Given the description of an element on the screen output the (x, y) to click on. 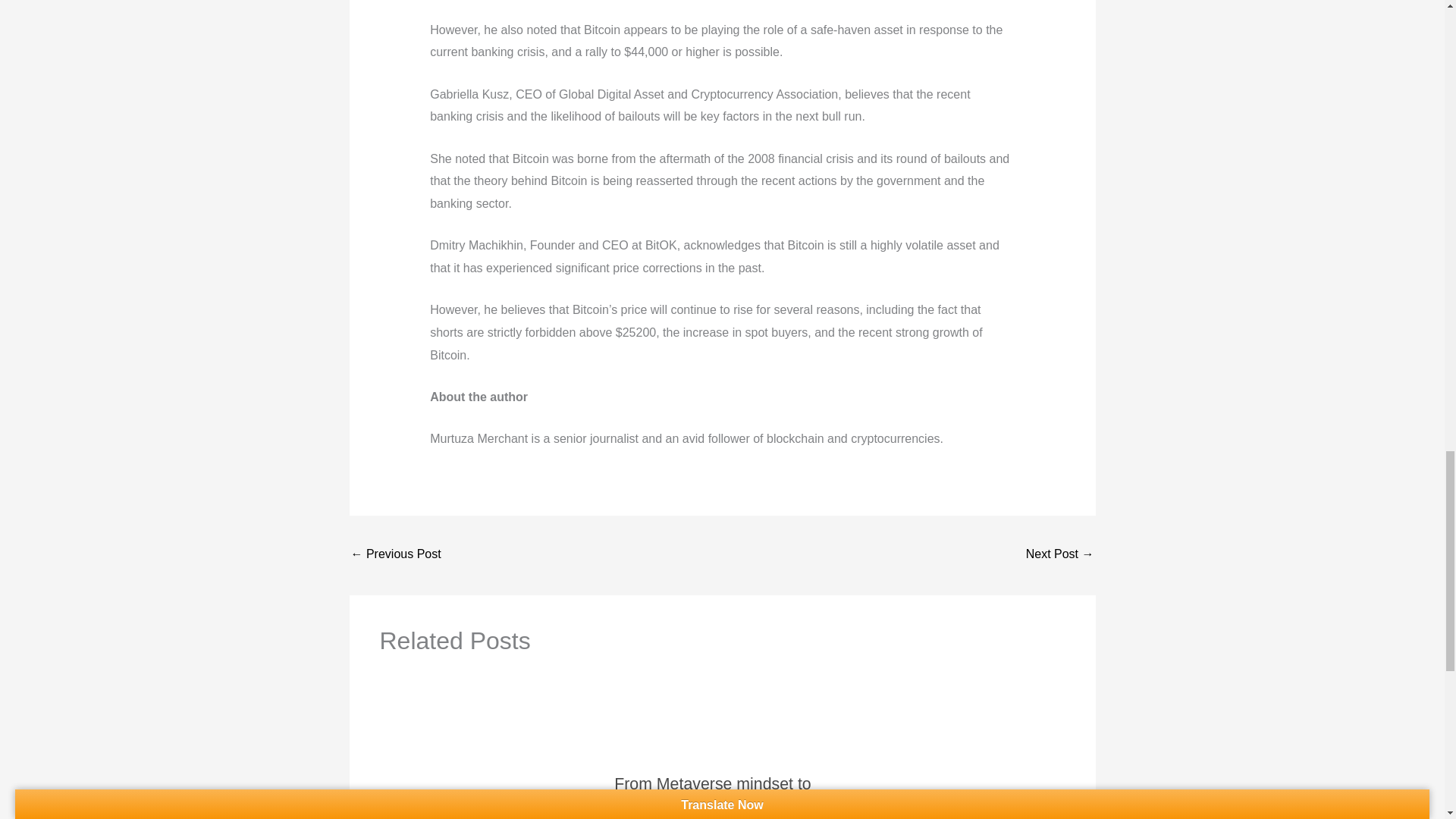
From Metaverse mindset to impacts with SDGs (712, 791)
